Given the description of an element on the screen output the (x, y) to click on. 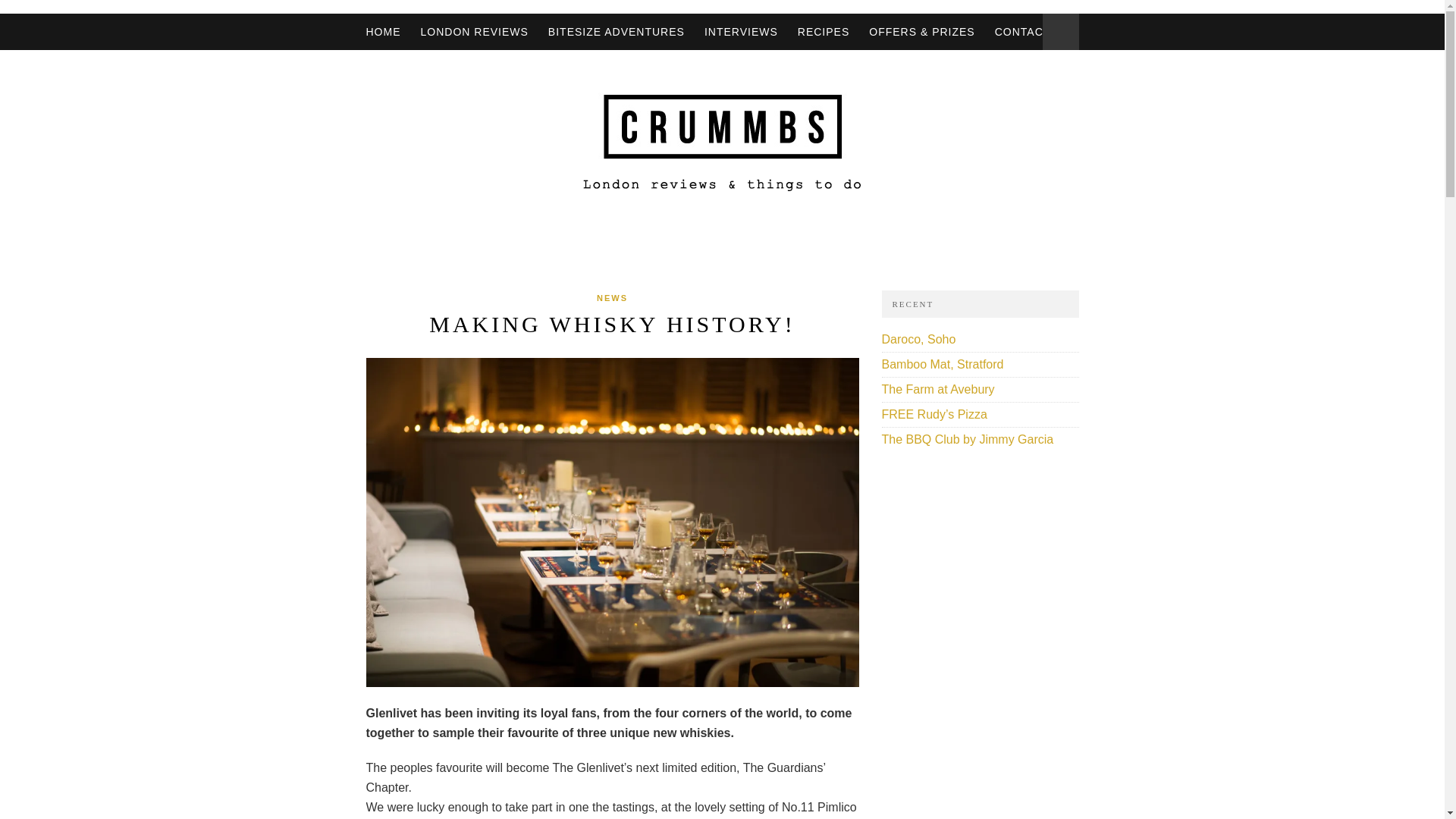
RECIPES (822, 31)
HOME (382, 31)
INTERVIEWS (740, 31)
View all posts in News (611, 297)
BITESIZE ADVENTURES (616, 31)
LONDON REVIEWS (473, 31)
NEWS (611, 297)
CONTACT (1022, 31)
